Given the description of an element on the screen output the (x, y) to click on. 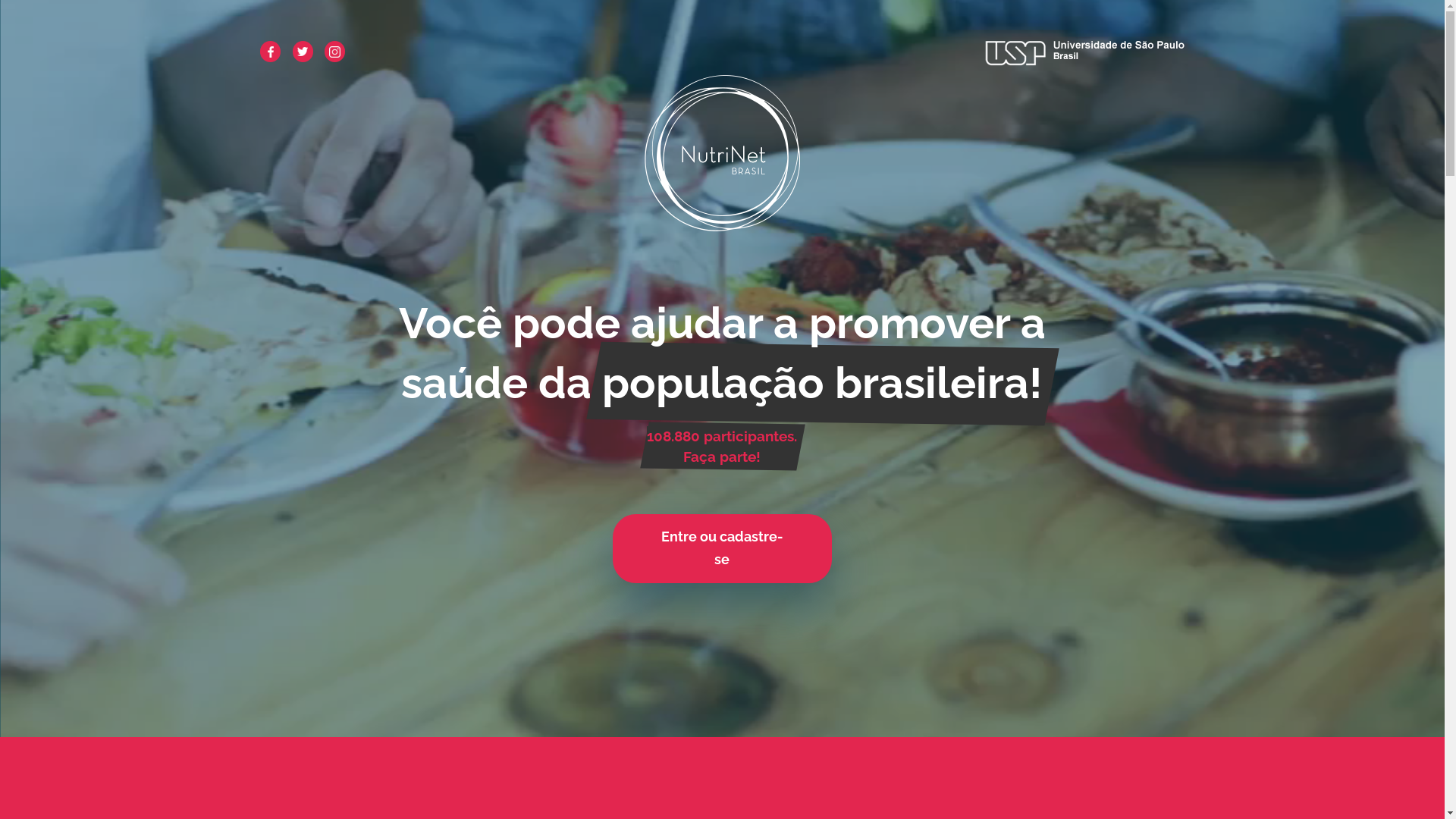
instagram Element type: text (334, 50)
Entre ou cadastre-se Element type: text (721, 548)
NutriNet Brasil Element type: text (722, 153)
twitter Element type: text (302, 50)
facebook Element type: text (270, 50)
